Given the description of an element on the screen output the (x, y) to click on. 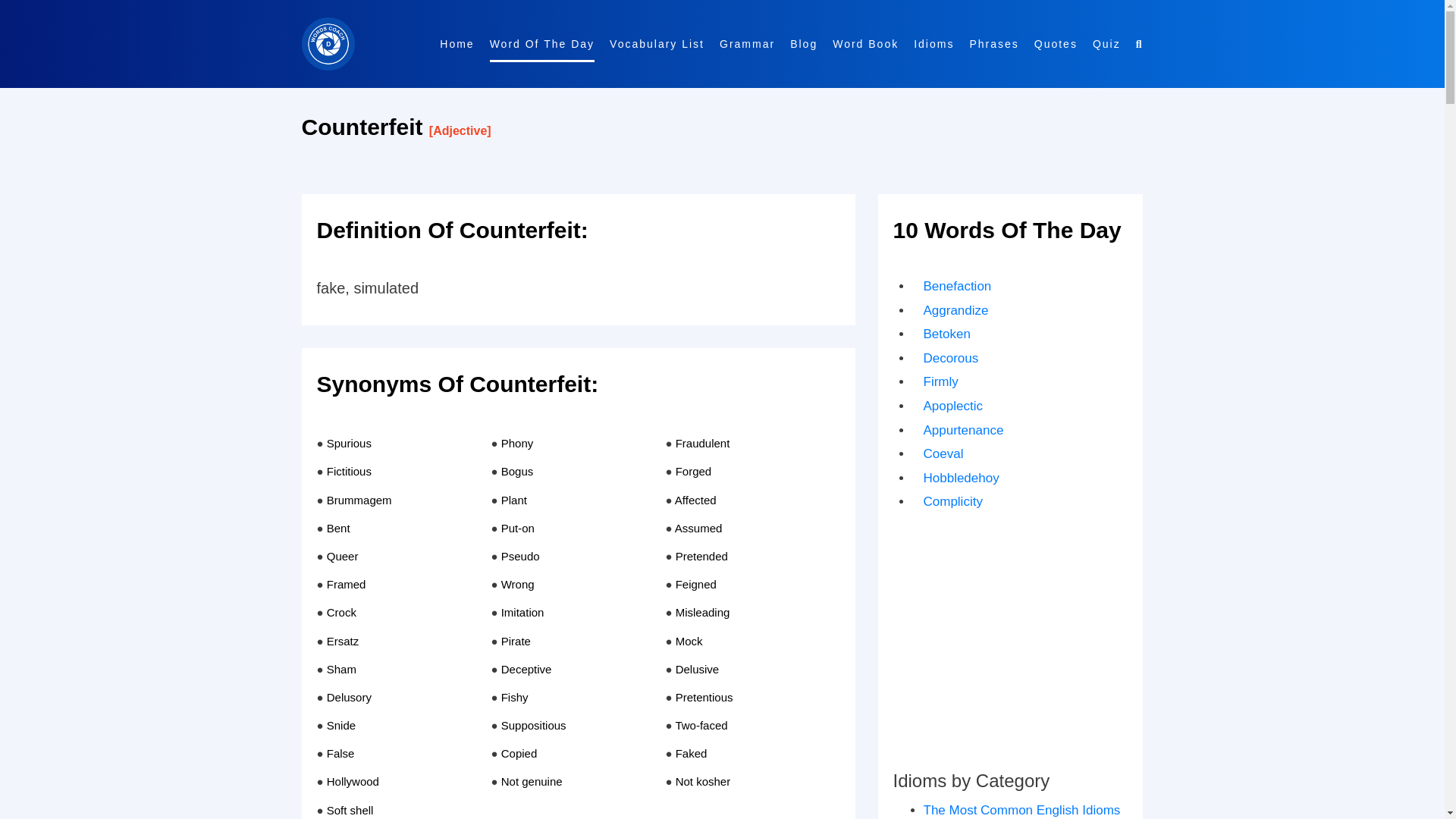
Phony (517, 442)
Feigned (695, 584)
Fraudulent (702, 442)
Definition of Counterfeit - word coach - vocabulary (578, 238)
Word coach: Word book (746, 43)
Deceptive (525, 668)
Put-on (517, 527)
Phrases (993, 43)
Home (456, 43)
Spurious (348, 442)
Delusive (697, 668)
Bogus (517, 471)
Pirate (515, 640)
Queer (342, 555)
Quote Of The Day: Word coach (1055, 43)
